Given the description of an element on the screen output the (x, y) to click on. 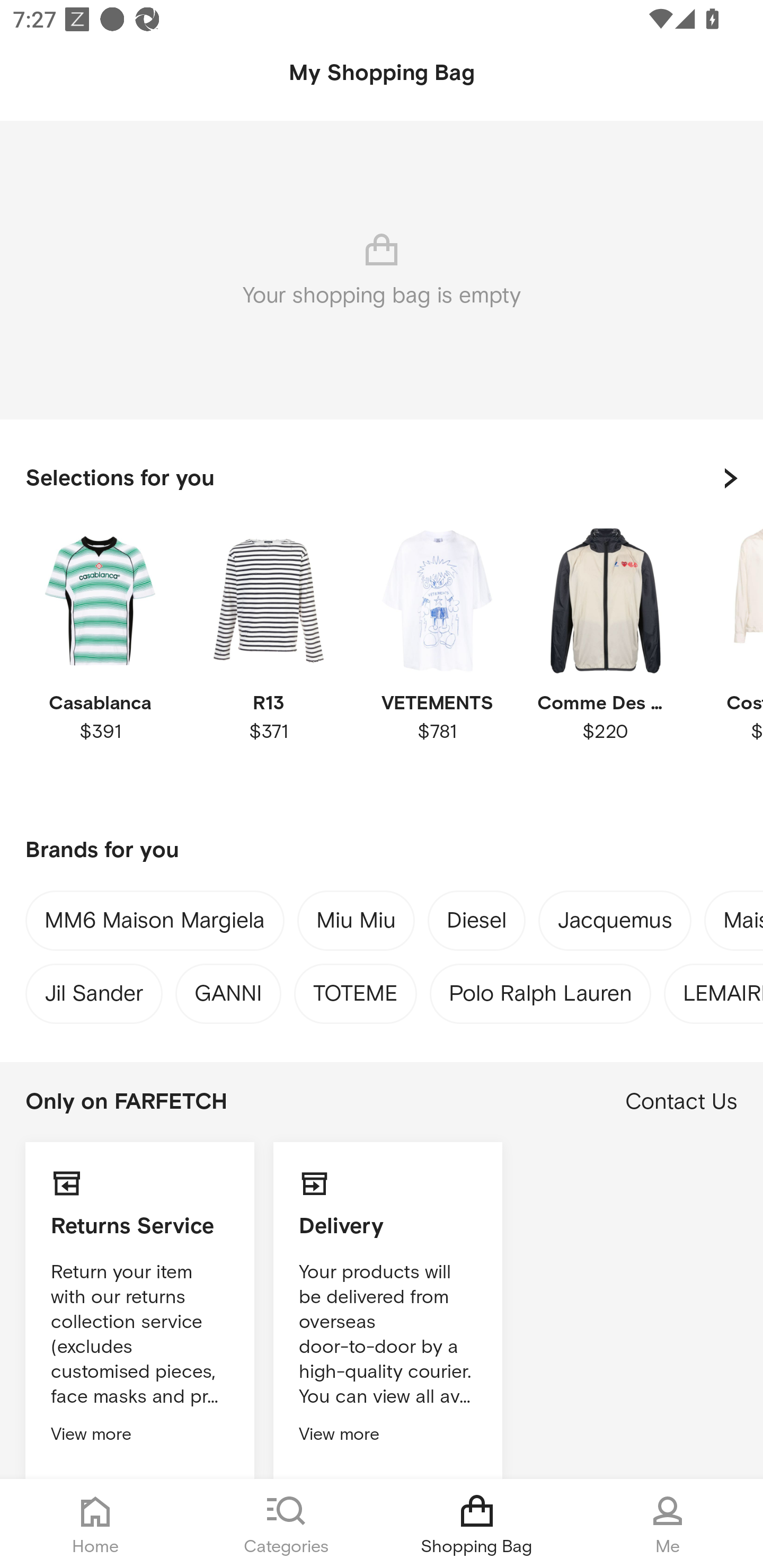
Selections for you (381, 477)
Casablanca $391 (100, 660)
R13 $371 (268, 660)
VETEMENTS $781 (436, 660)
Comme Des Garçons Play $220 (605, 660)
Brands for you (381, 850)
MM6 Maison Margiela (154, 924)
Miu Miu (355, 922)
Diesel (476, 924)
Jacquemus (614, 924)
Jil Sander (93, 988)
GANNI (227, 988)
TOTEME (355, 988)
Polo Ralph Lauren (539, 988)
LEMAIRE (722, 988)
Contact Us (680, 1101)
Home (95, 1523)
Categories (285, 1523)
Me (667, 1523)
